Given the description of an element on the screen output the (x, y) to click on. 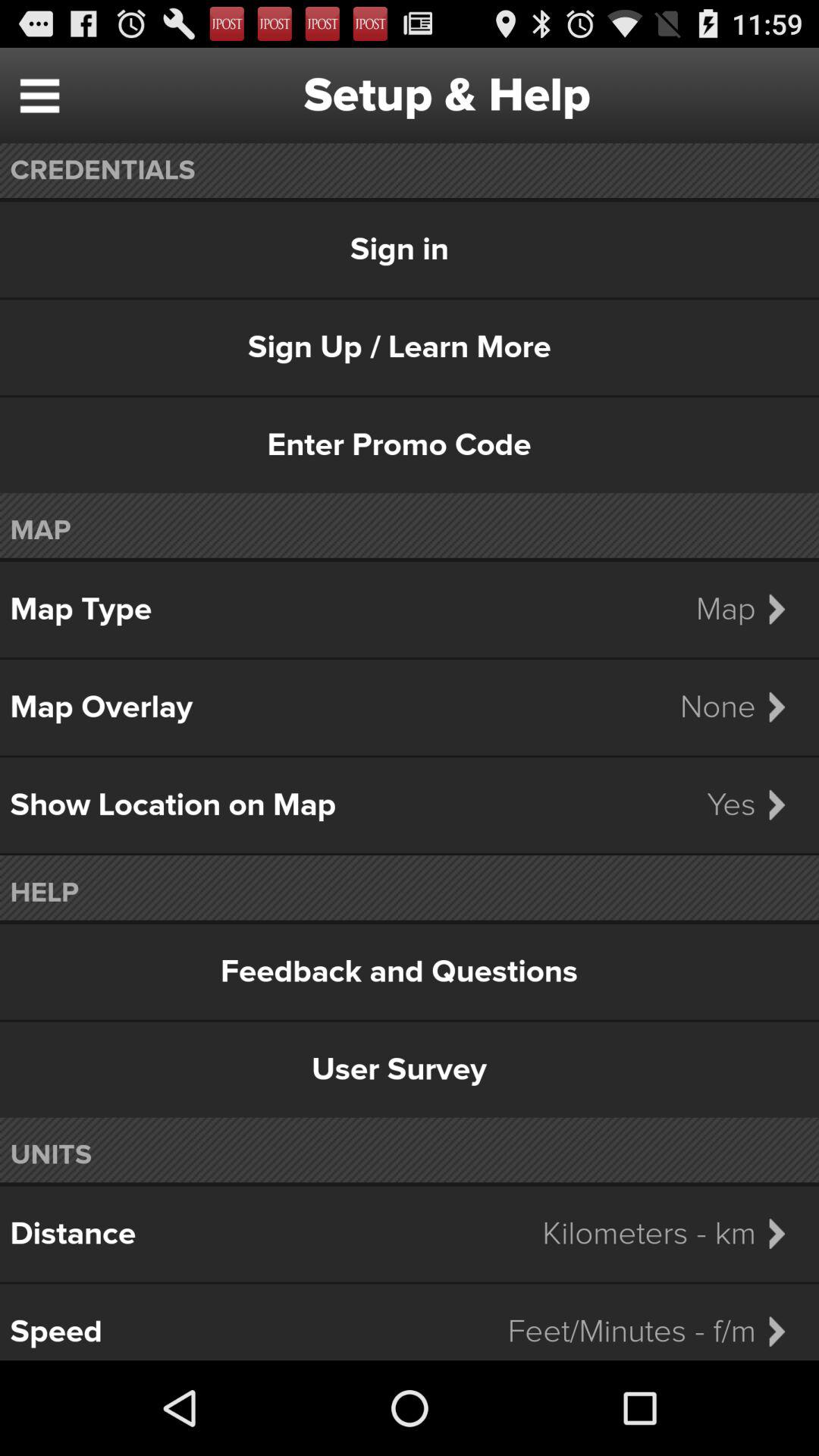
flip until feedback and questions item (409, 971)
